Given the description of an element on the screen output the (x, y) to click on. 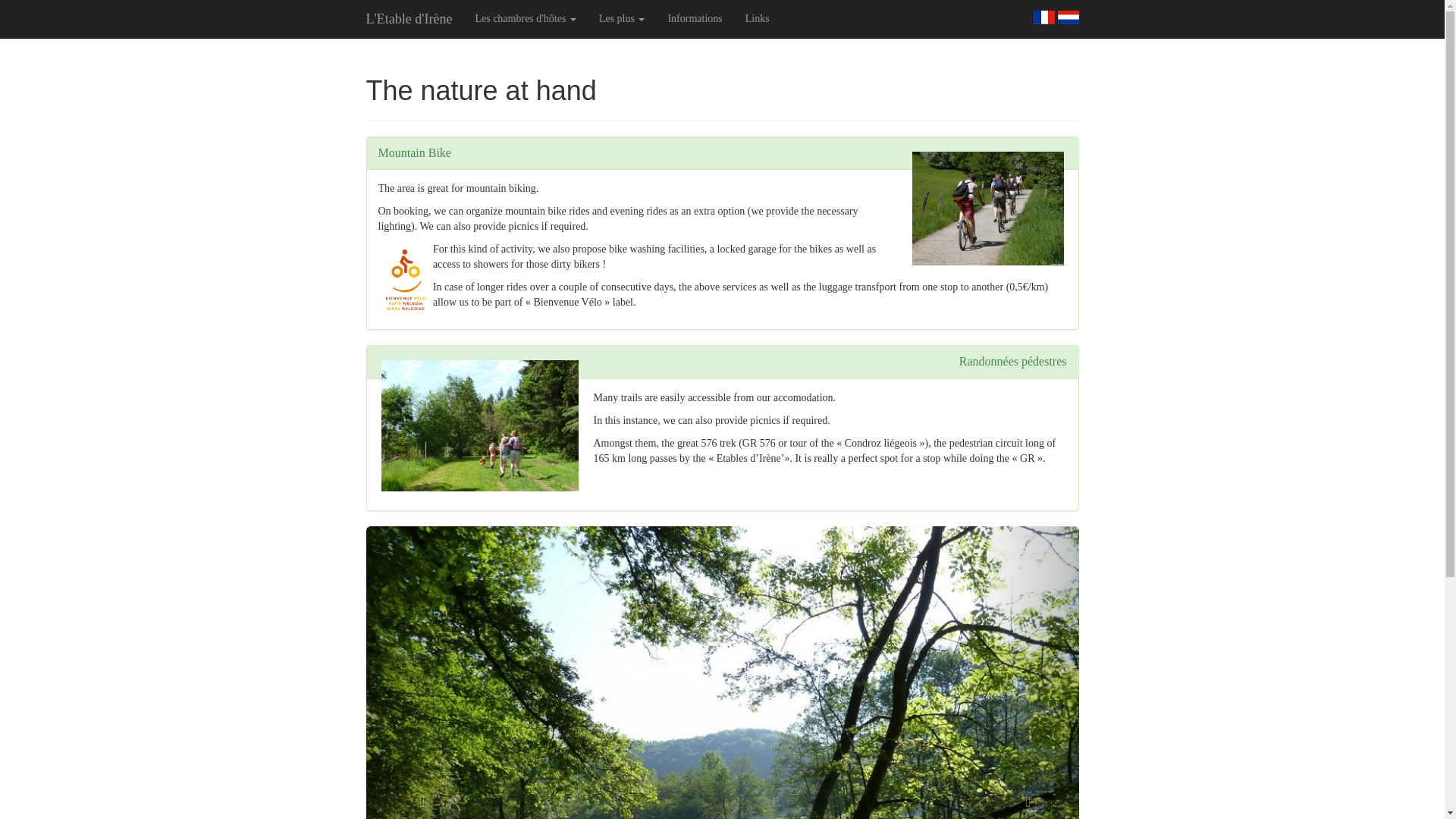
Les plus (622, 18)
Informations (694, 18)
Links (756, 18)
